Given the description of an element on the screen output the (x, y) to click on. 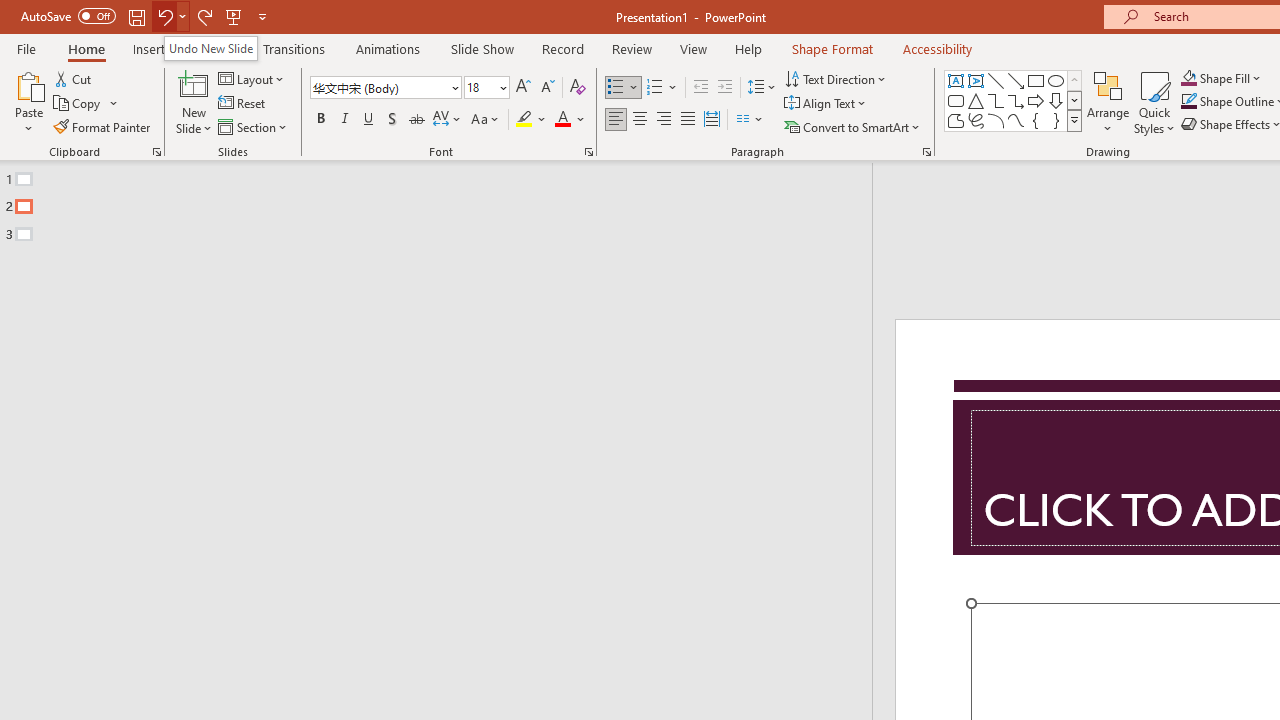
Shape Outline Blue, Accent 1 (1188, 101)
